Given the description of an element on the screen output the (x, y) to click on. 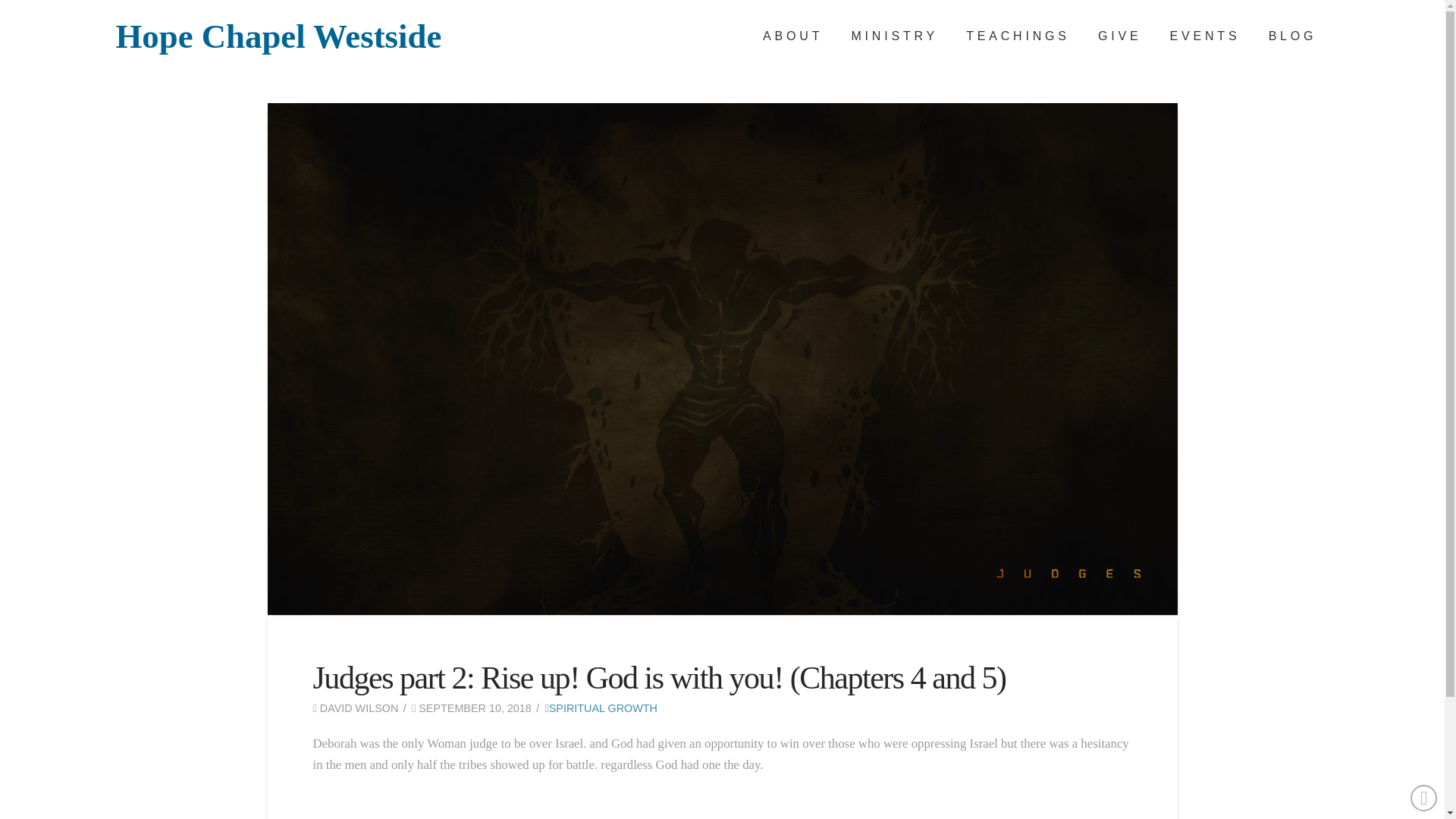
GIVE (1117, 36)
EVENTS (1203, 36)
ABOUT (790, 36)
SPIRITUAL GROWTH (601, 707)
Back to Top (1423, 797)
TEACHINGS (1015, 36)
BLOG (1290, 36)
Hope Chapel Westside (278, 36)
MINISTRY (892, 36)
